Given the description of an element on the screen output the (x, y) to click on. 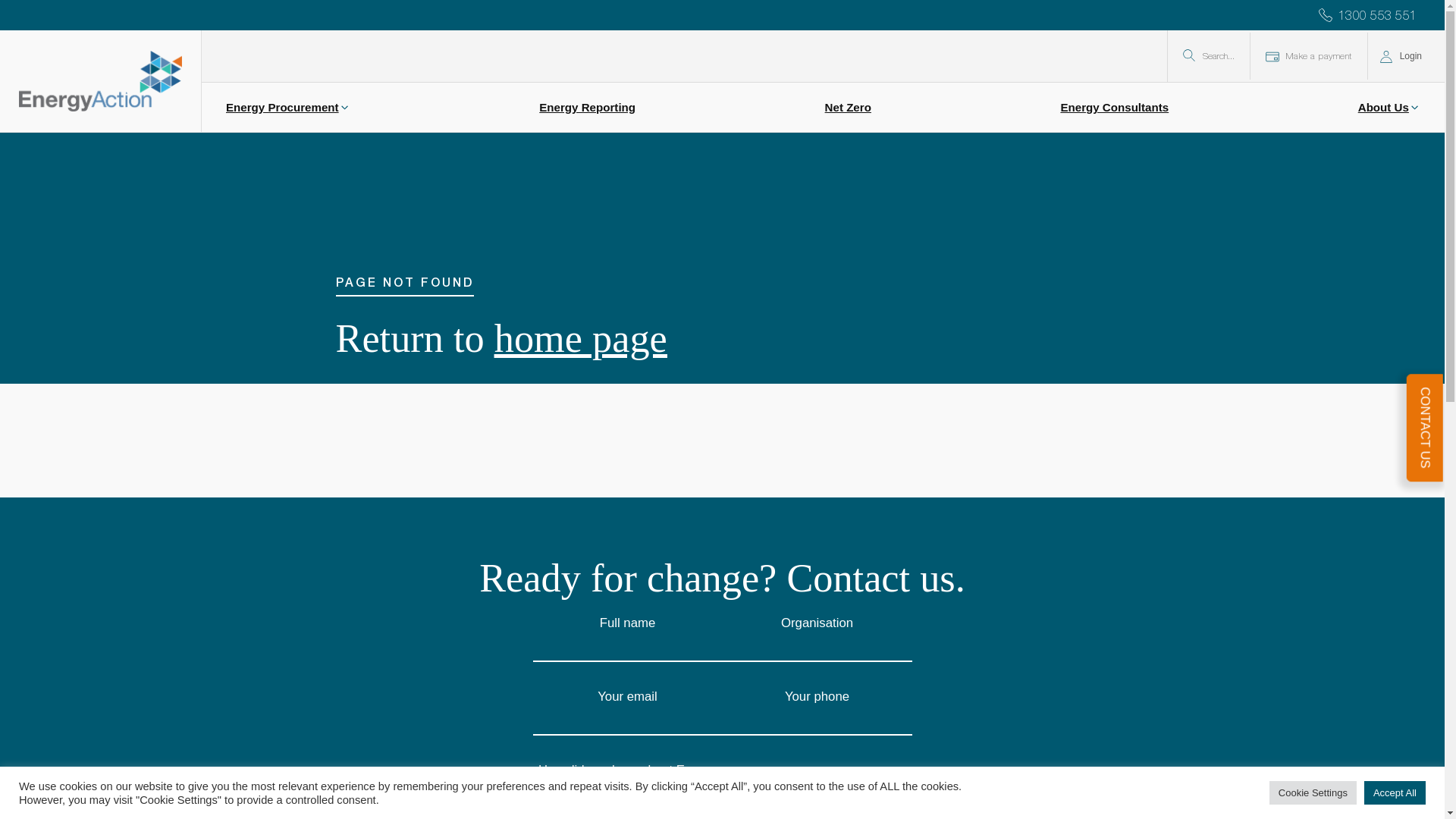
About Us Element type: text (1388, 106)
Energy Consultants Element type: text (1113, 106)
home page Element type: text (580, 338)
Search Element type: text (26, 9)
Cookie Settings Element type: text (1312, 792)
Accept All Element type: text (1394, 792)
Net Zero Element type: text (847, 106)
Energy Reporting Element type: text (586, 106)
1300 553 551  Element type: text (1368, 15)
Make a payment Element type: text (1308, 55)
Energy Procurement Element type: text (287, 106)
Search... Element type: text (1208, 55)
